Given the description of an element on the screen output the (x, y) to click on. 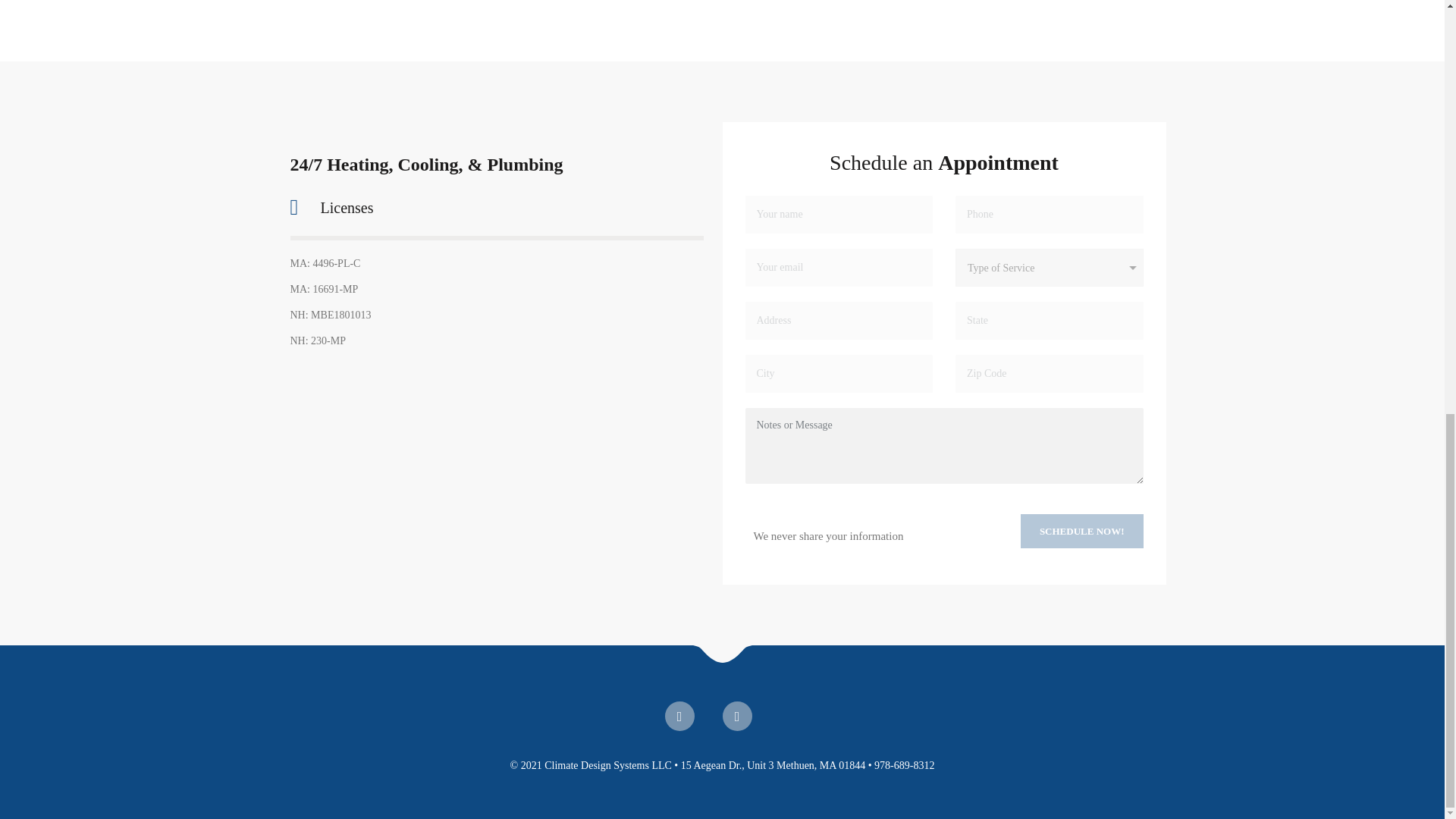
Schedule Now! (1081, 530)
